Given the description of an element on the screen output the (x, y) to click on. 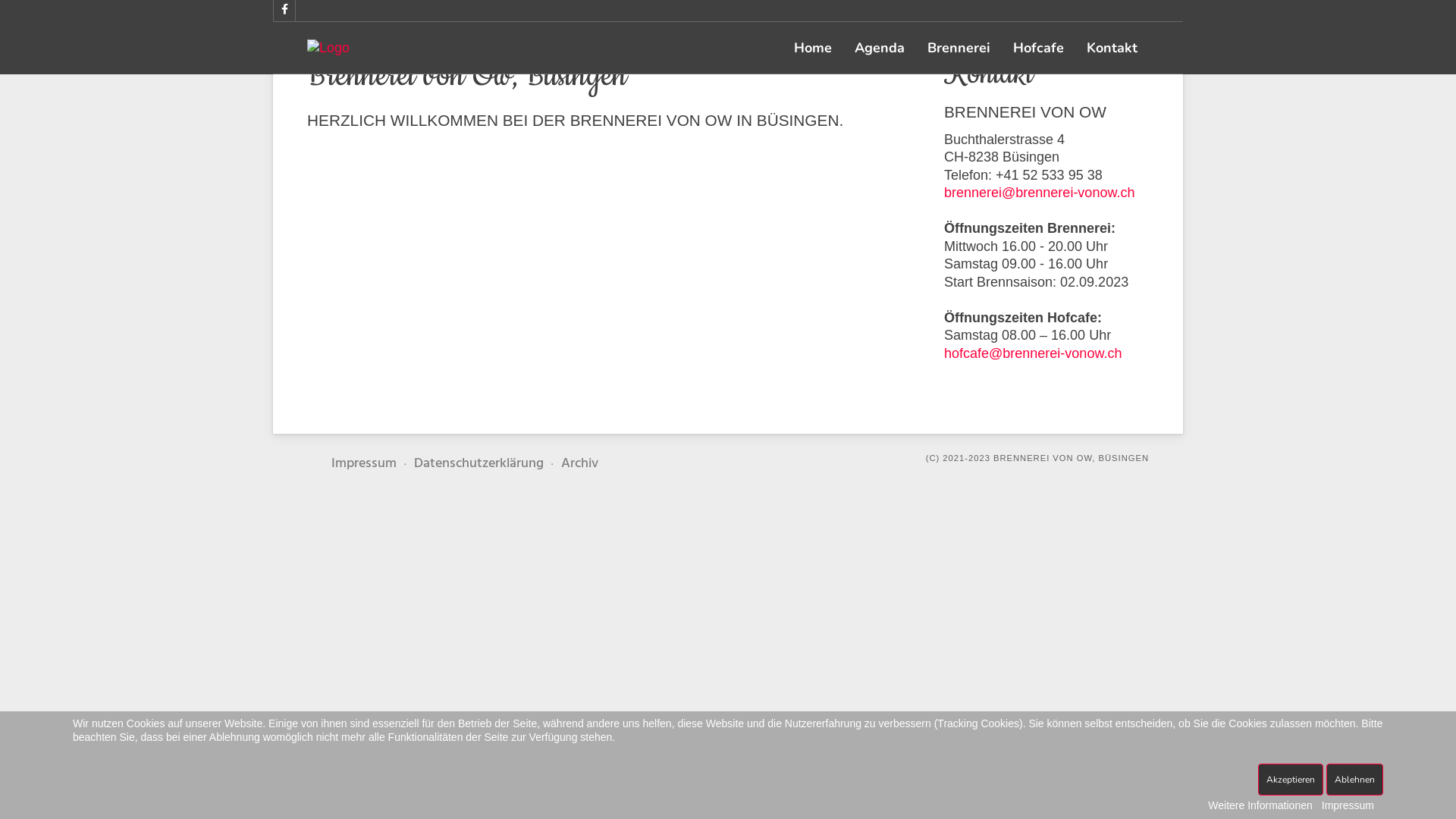
Hofcafe Element type: text (1038, 47)
Kontakt Element type: text (1111, 47)
Home Element type: text (812, 47)
Impressum Element type: text (1347, 805)
Weitere Informationen Element type: text (1259, 805)
Impressum Element type: text (370, 463)
hofcafe@brennerei-vonow.ch Element type: text (1032, 352)
Agenda Element type: text (879, 47)
brennerei@brennerei-vonow.ch Element type: text (1039, 192)
Akzeptieren Element type: text (1290, 779)
Brennerei Element type: text (958, 47)
Archiv Element type: text (579, 463)
Facebook Element type: text (283, 10)
Ablehnen Element type: text (1354, 779)
